Given the description of an element on the screen output the (x, y) to click on. 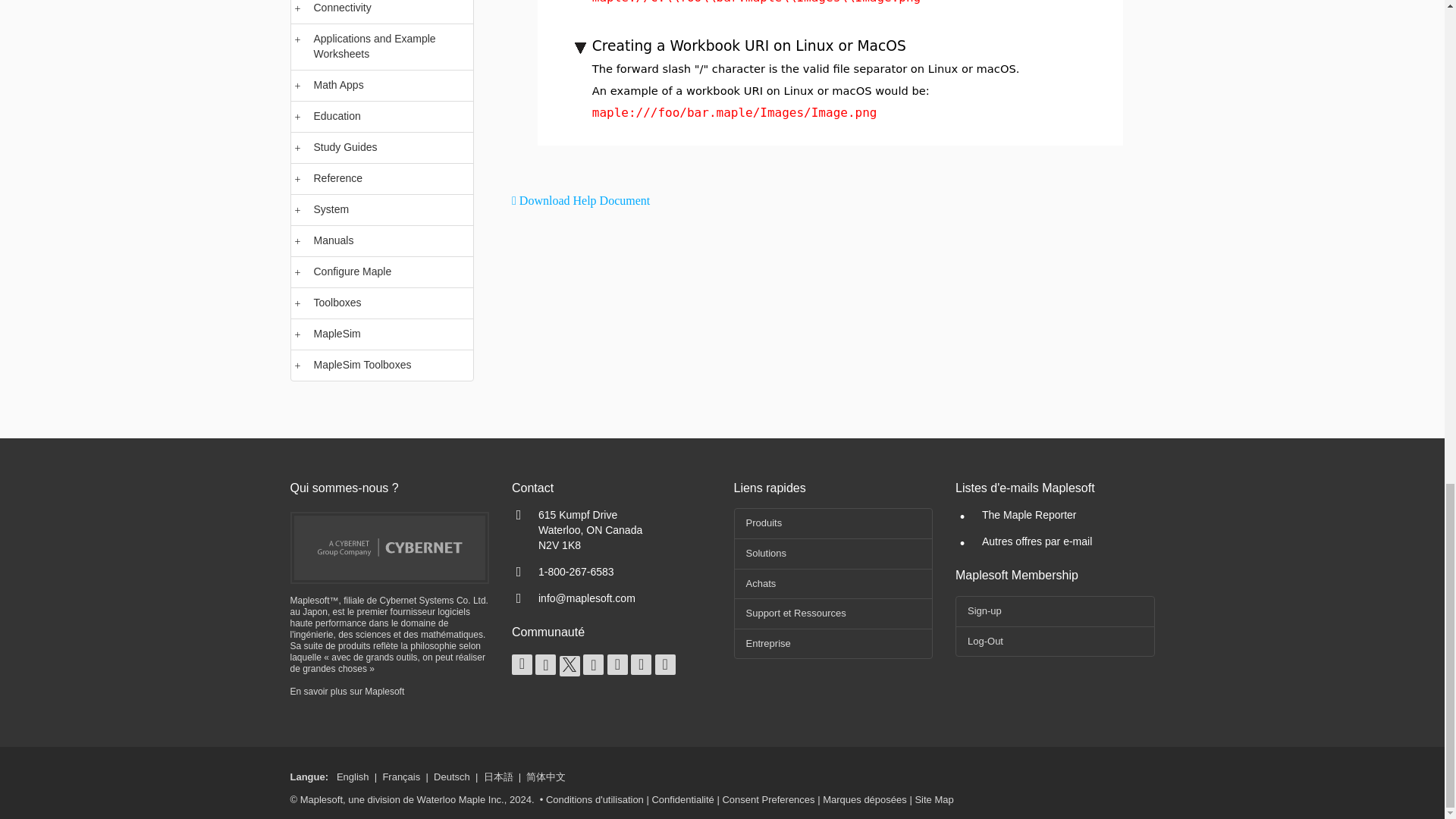
WeChat (665, 664)
